Given the description of an element on the screen output the (x, y) to click on. 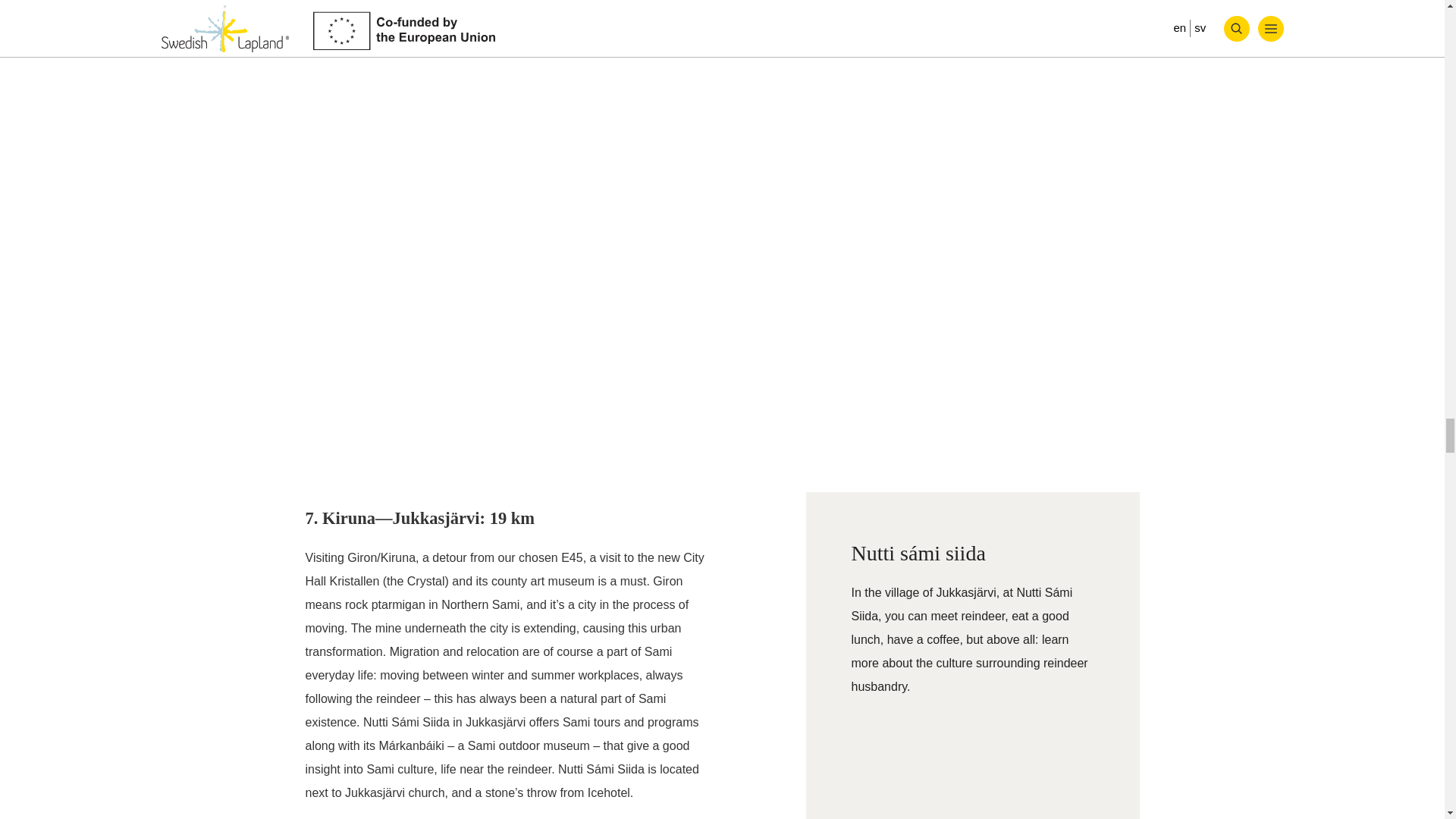
YouTube video player (971, 770)
